Given the description of an element on the screen output the (x, y) to click on. 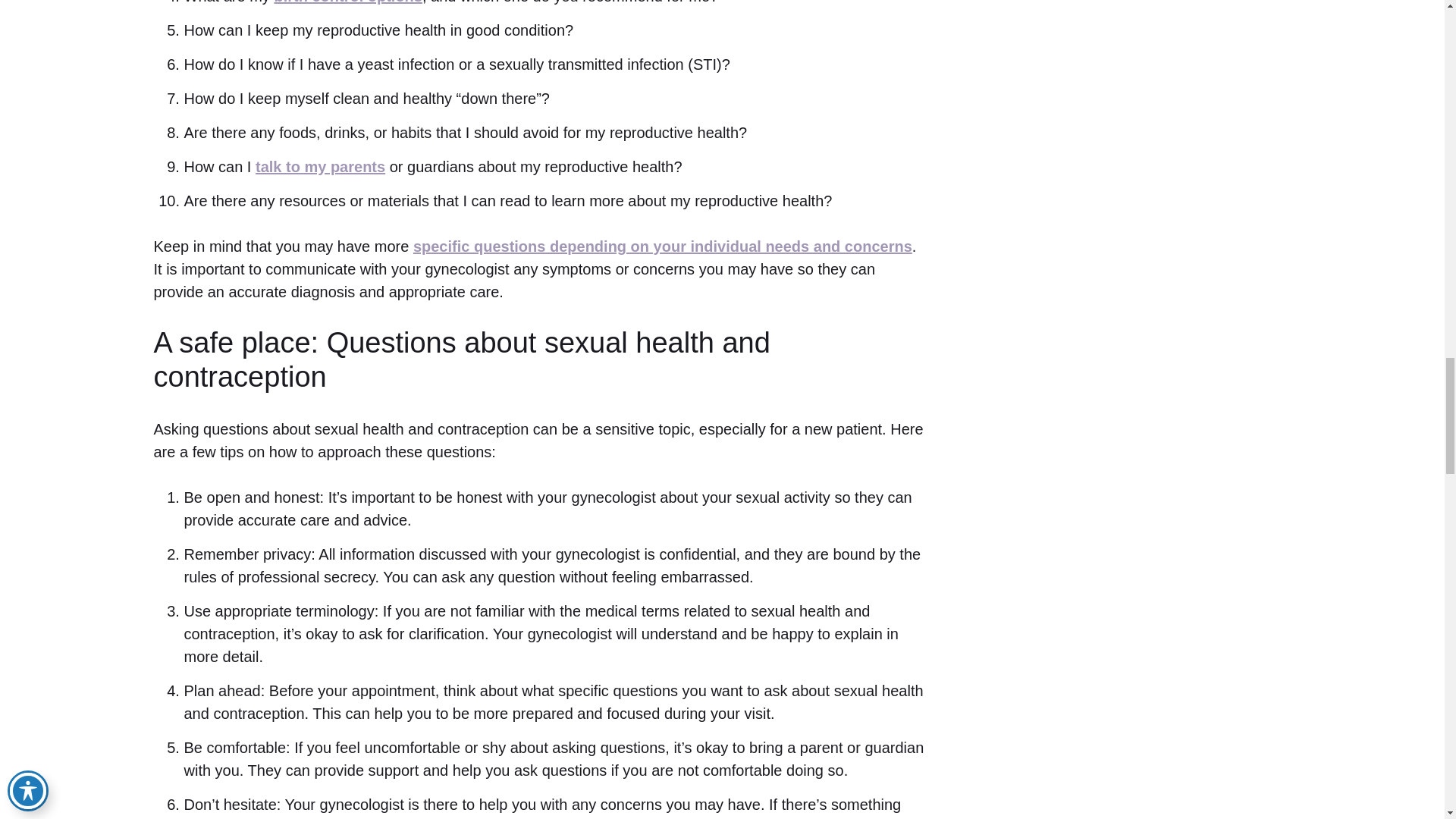
talk to my parents (320, 166)
birth control options (347, 2)
